Given the description of an element on the screen output the (x, y) to click on. 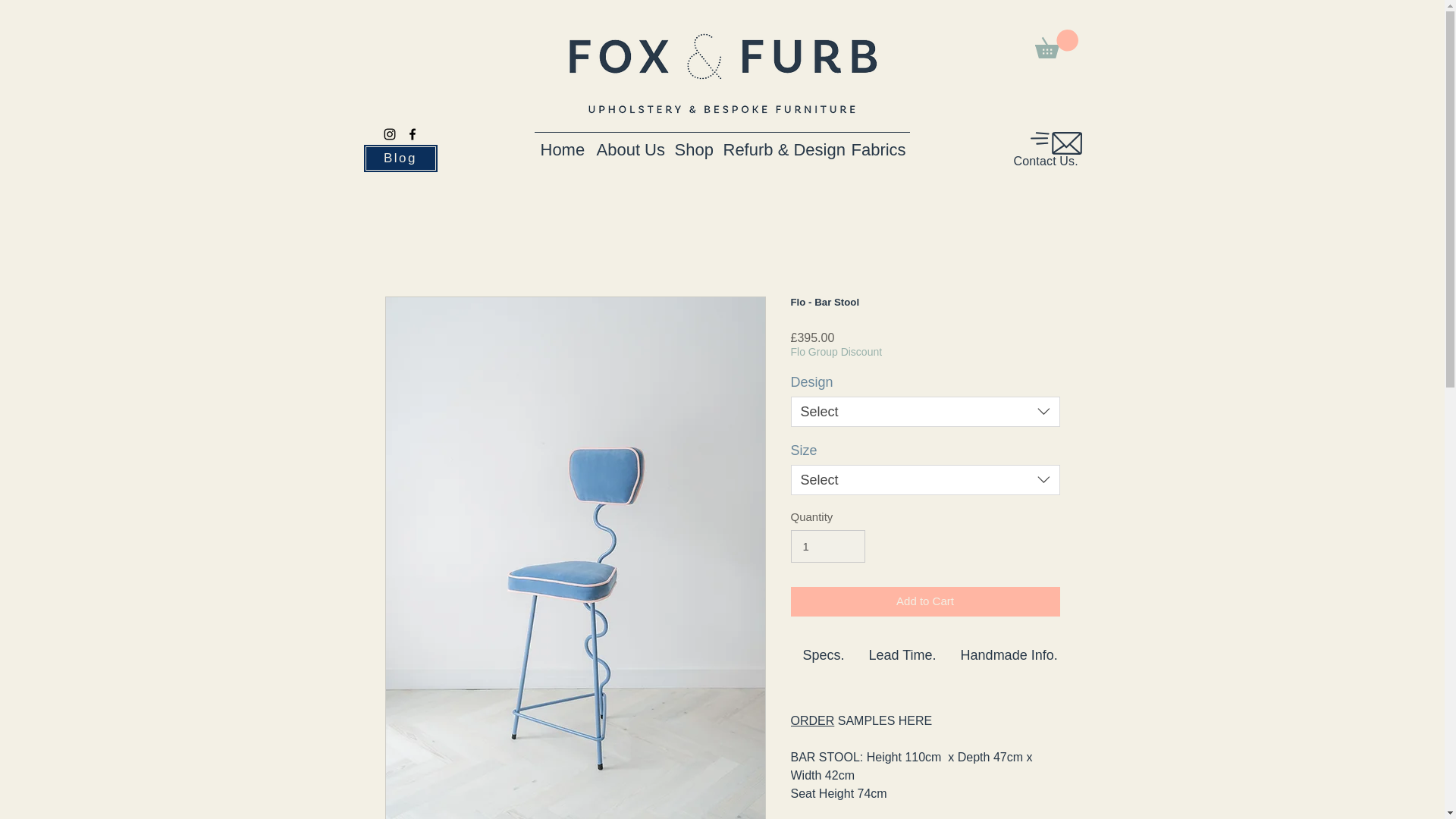
Add to Cart (924, 601)
About Us (628, 142)
Blog (400, 158)
Home (561, 142)
Select (924, 480)
Use right and left arrows to navigate between tabs (1009, 655)
Select (924, 411)
Use right and left arrows to navigate between tabs (823, 655)
FOX LOGO.png (720, 72)
Shop (692, 142)
1 (827, 546)
ORDER (812, 720)
Fabrics (876, 142)
Use right and left arrows to navigate between tabs (903, 655)
